Given the description of an element on the screen output the (x, y) to click on. 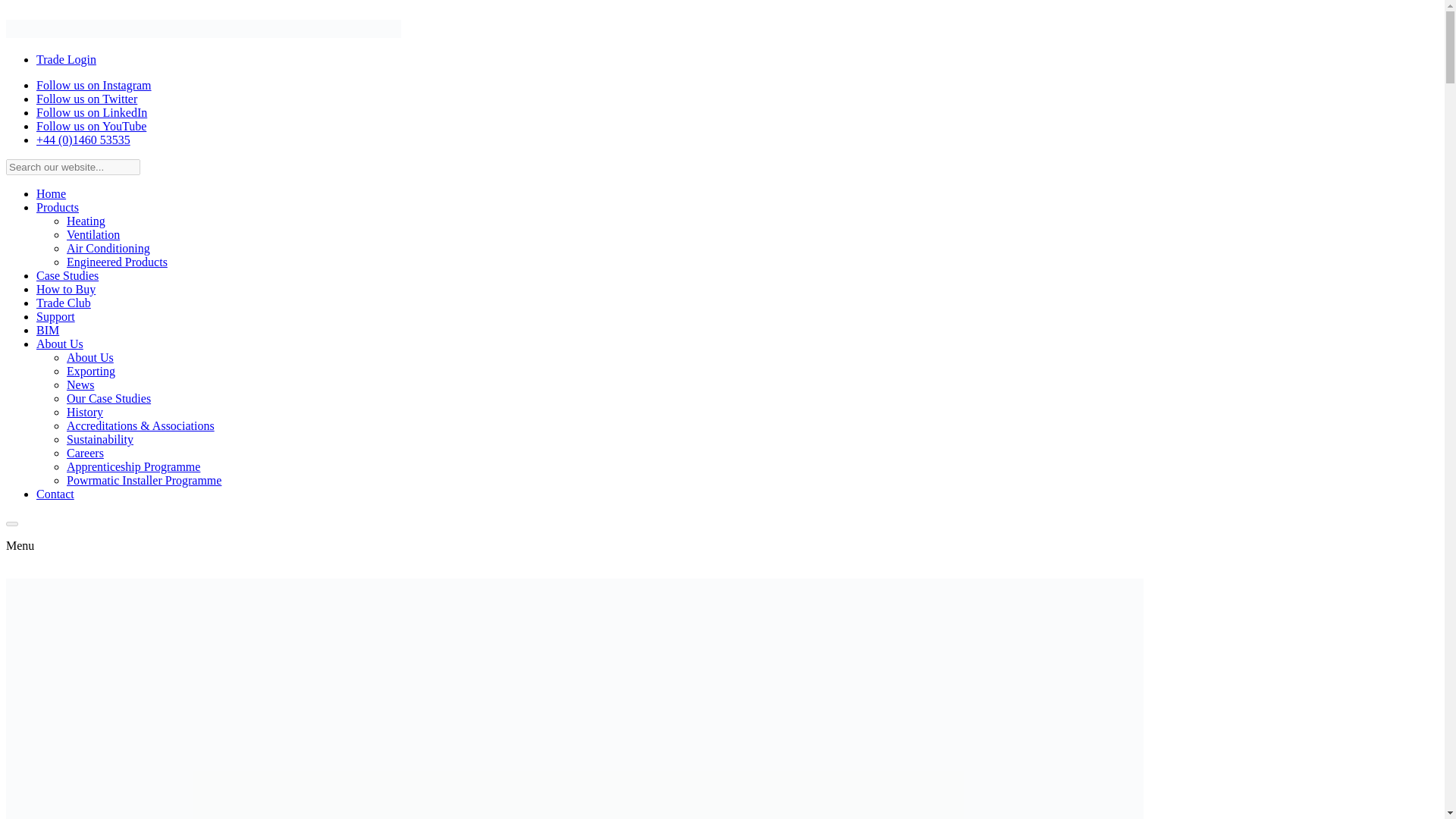
History (84, 411)
Support (55, 316)
Apprenticeship Programme (133, 466)
Ventilation (92, 234)
Follow us on LinkedIn (91, 112)
Sustainability (99, 439)
Heating (85, 220)
Powrmatic (203, 33)
Follow us on Twitter (86, 98)
Trade Login (66, 59)
Careers (84, 452)
Case Studies (67, 275)
Our Case Studies (108, 398)
Follow us on Instagram (93, 84)
BIM (47, 329)
